Given the description of an element on the screen output the (x, y) to click on. 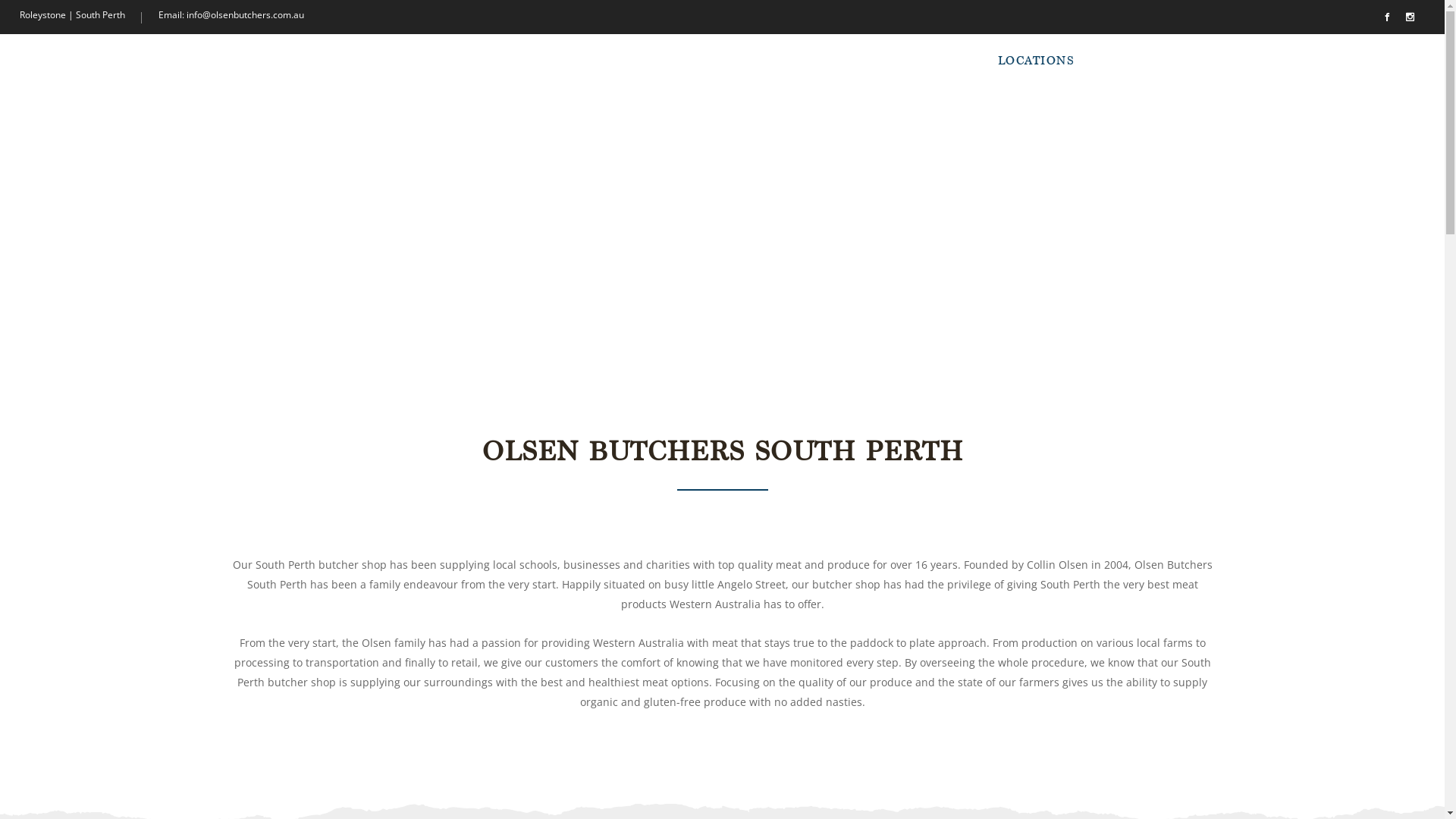
LOCATIONS Element type: text (1035, 60)
ABOUT Element type: text (948, 60)
HOME Element type: text (878, 60)
info@olsenbutchers.com.au Element type: text (245, 14)
CONTACT US Element type: text (1331, 60)
CAREERS Element type: text (1219, 60)
GALLERY Element type: text (1131, 60)
